Given the description of an element on the screen output the (x, y) to click on. 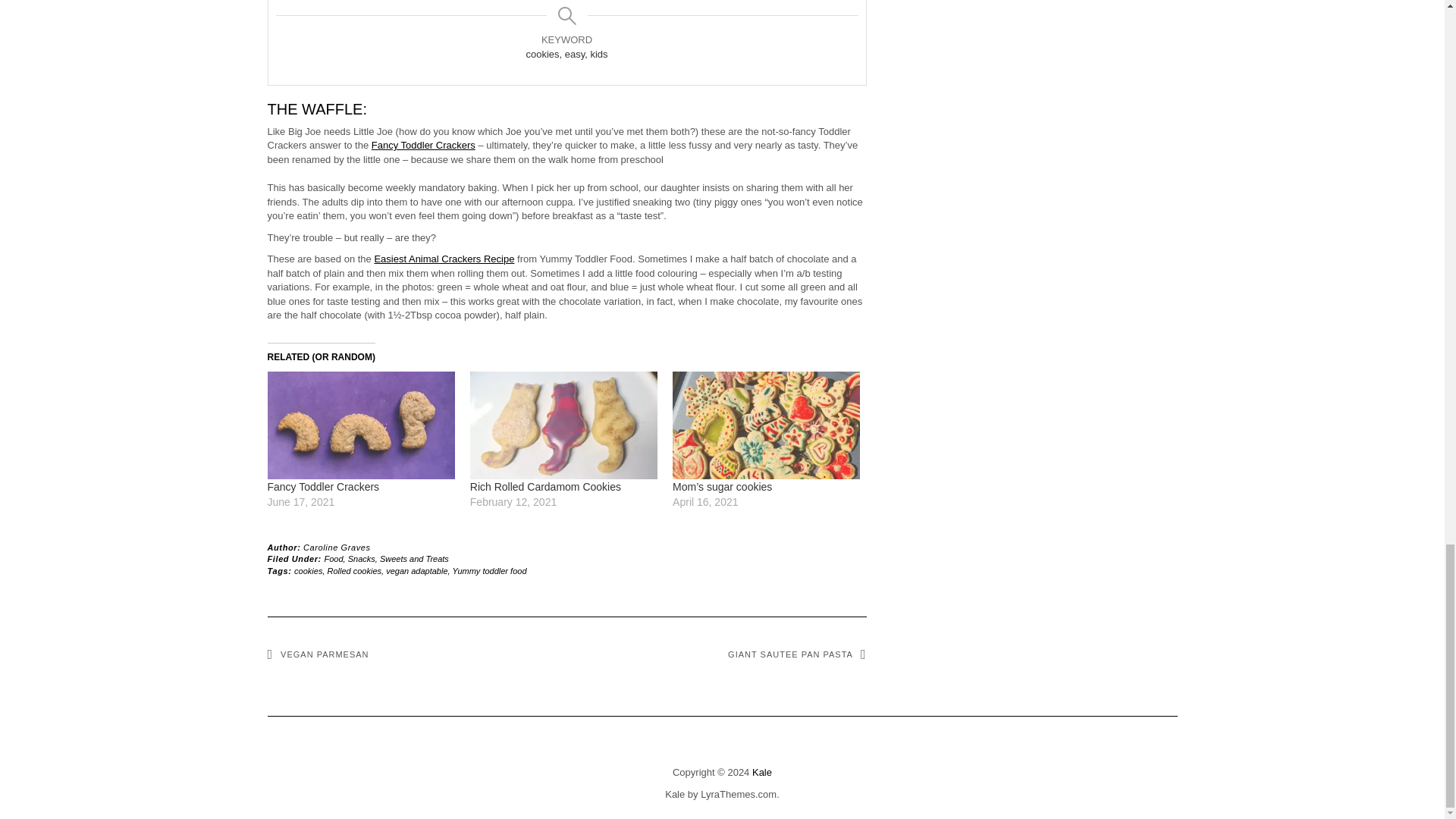
Fancy Toddler Crackers (322, 486)
Yummy toddler food (488, 570)
Fancy Toddler Crackers (423, 144)
Posts by Caroline Graves (335, 547)
Fancy Toddler Crackers (360, 424)
Fancy Toddler Crackers (322, 486)
Sweets and Treats (414, 558)
Rich Rolled Cardamom Cookies (545, 486)
Rich Rolled Cardamom Cookies (545, 486)
Food (333, 558)
